Given the description of an element on the screen output the (x, y) to click on. 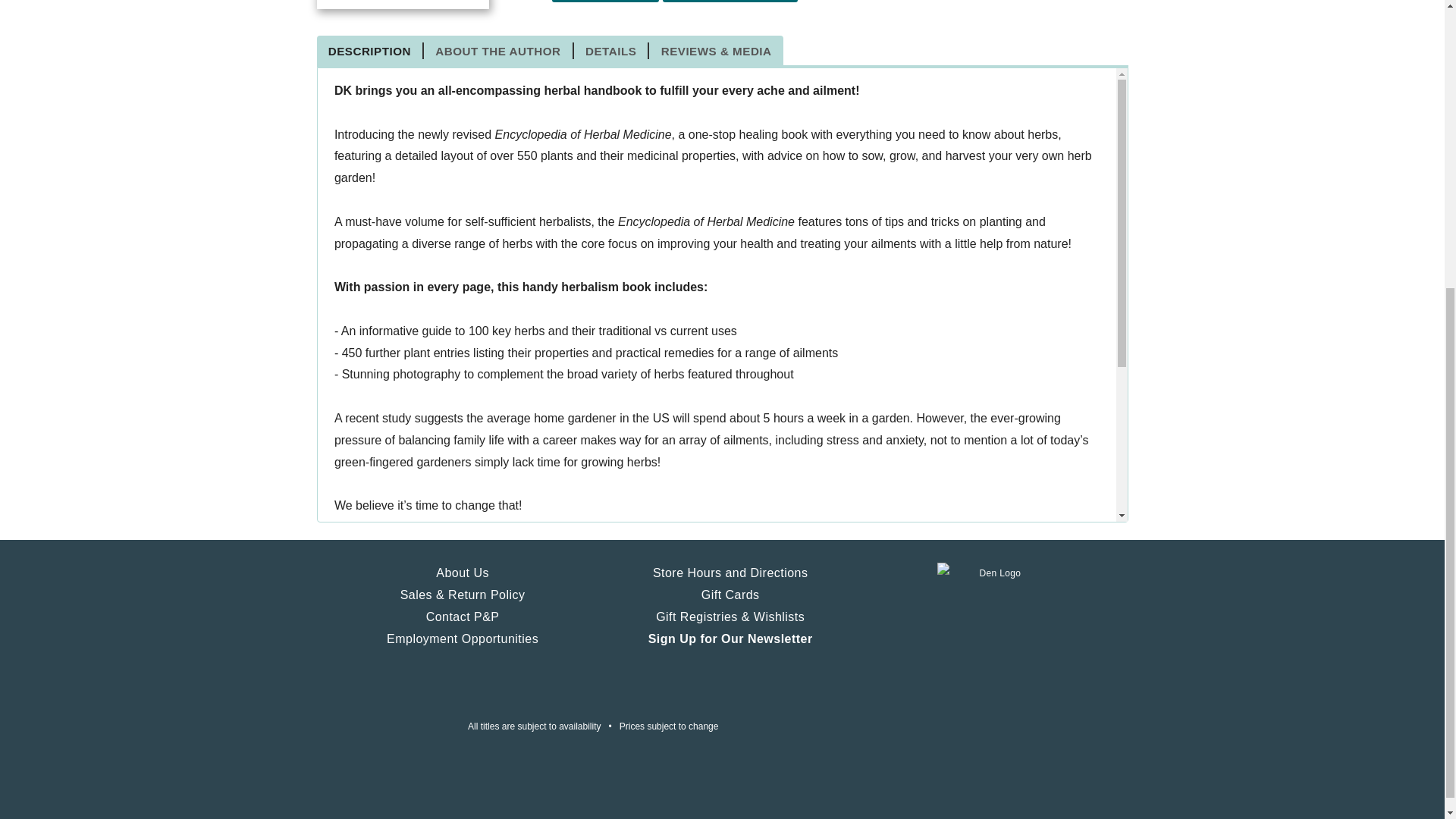
Add to Wish List (729, 1)
Add to Cart (605, 1)
